Given the description of an element on the screen output the (x, y) to click on. 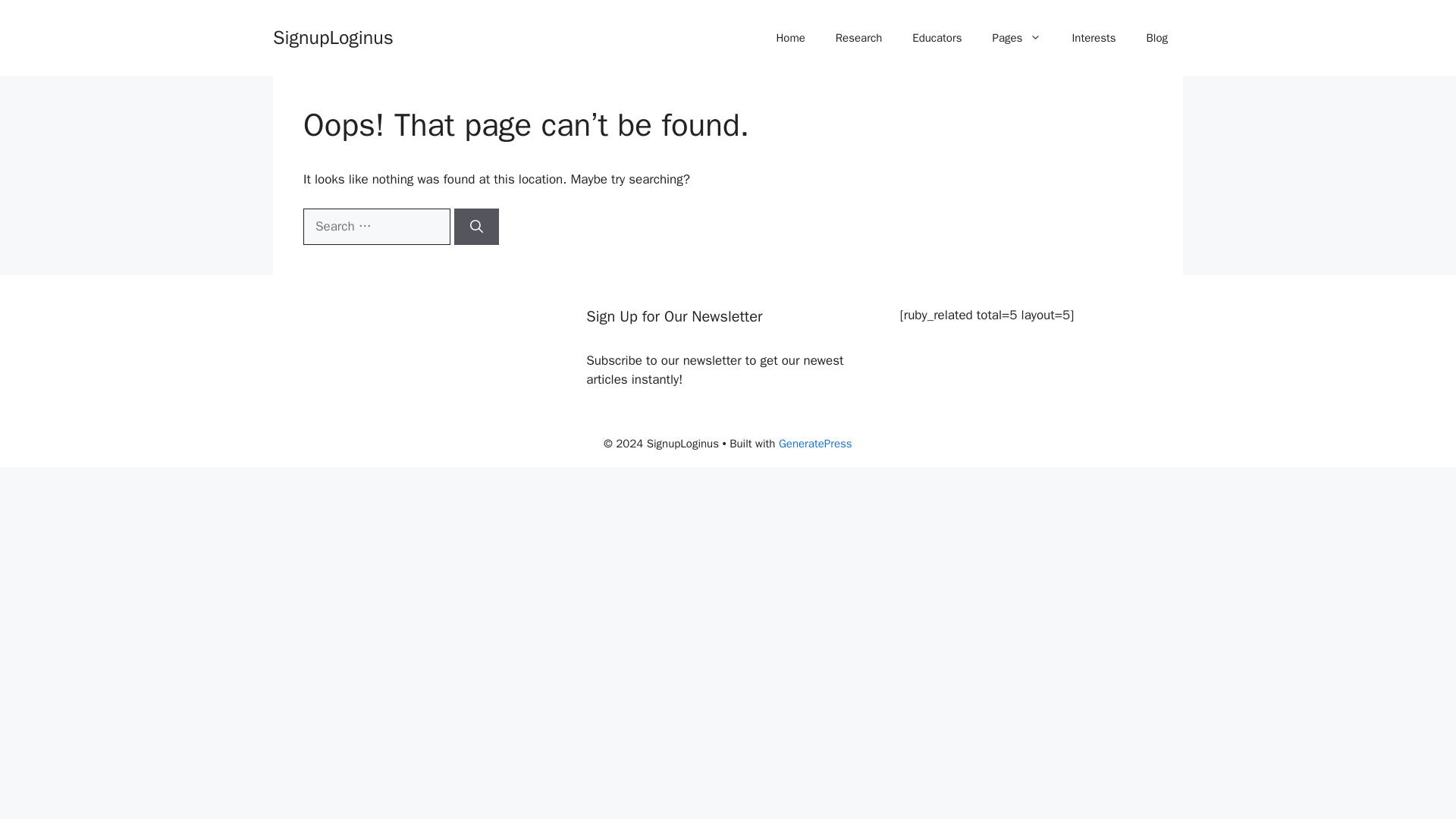
Blog (1156, 37)
Research (858, 37)
Pages (1016, 37)
GeneratePress (814, 443)
SignupLoginus (333, 37)
Home (789, 37)
Interests (1094, 37)
Educators (936, 37)
Search for: (375, 226)
